Given the description of an element on the screen output the (x, y) to click on. 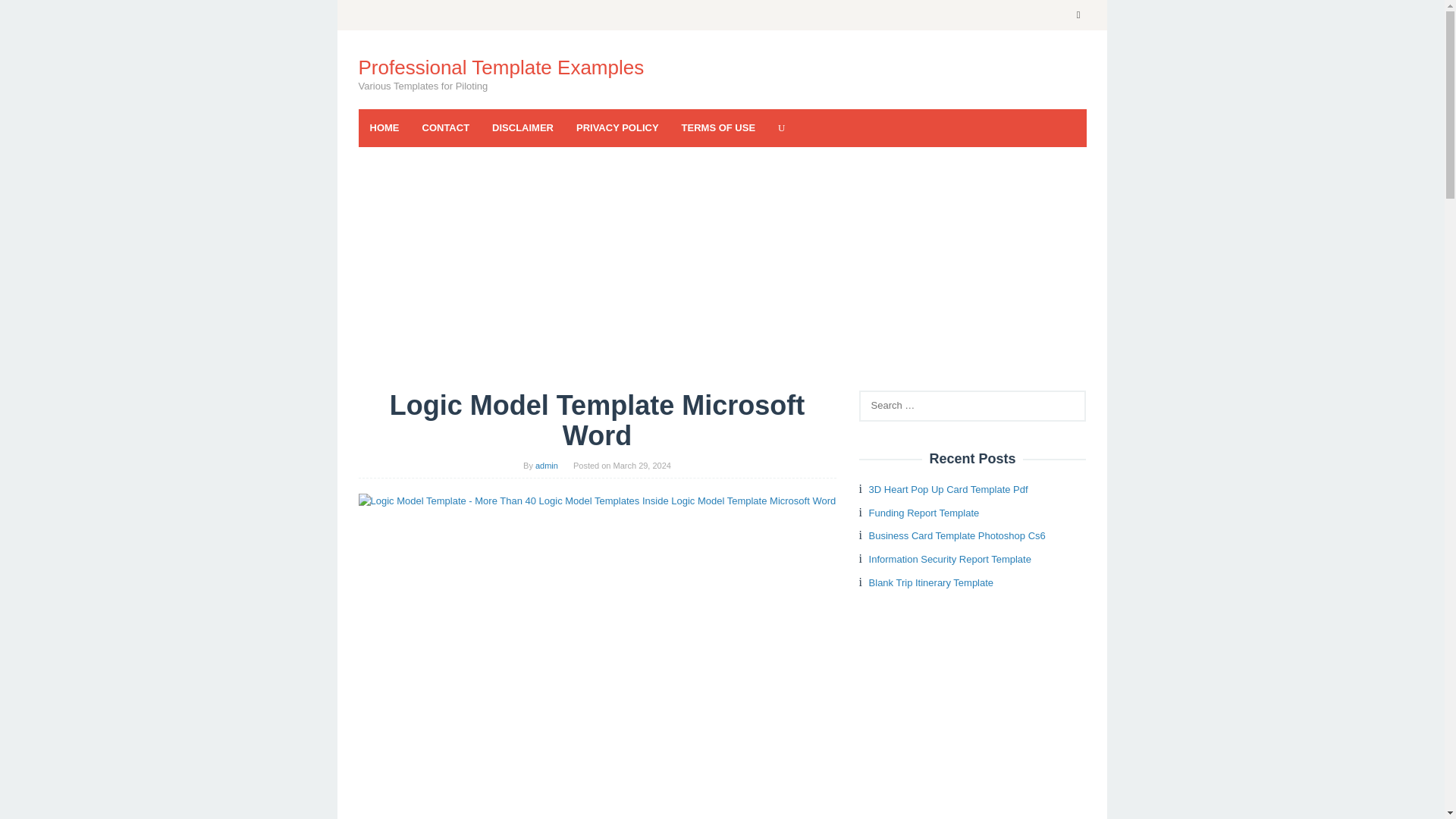
Search (27, 15)
Business Card Template Photoshop Cs6 (957, 535)
Permalink to: admin (546, 465)
CONTACT (445, 127)
Professional Template Examples (500, 67)
Blank Trip Itinerary Template (931, 582)
DISCLAIMER (522, 127)
Information Security Report Template (949, 559)
Funding Report Template (924, 512)
TERMS OF USE (718, 127)
HOME (384, 127)
3D Heart Pop Up Card Template Pdf (948, 489)
Professional Template Examples (500, 67)
